Given the description of an element on the screen output the (x, y) to click on. 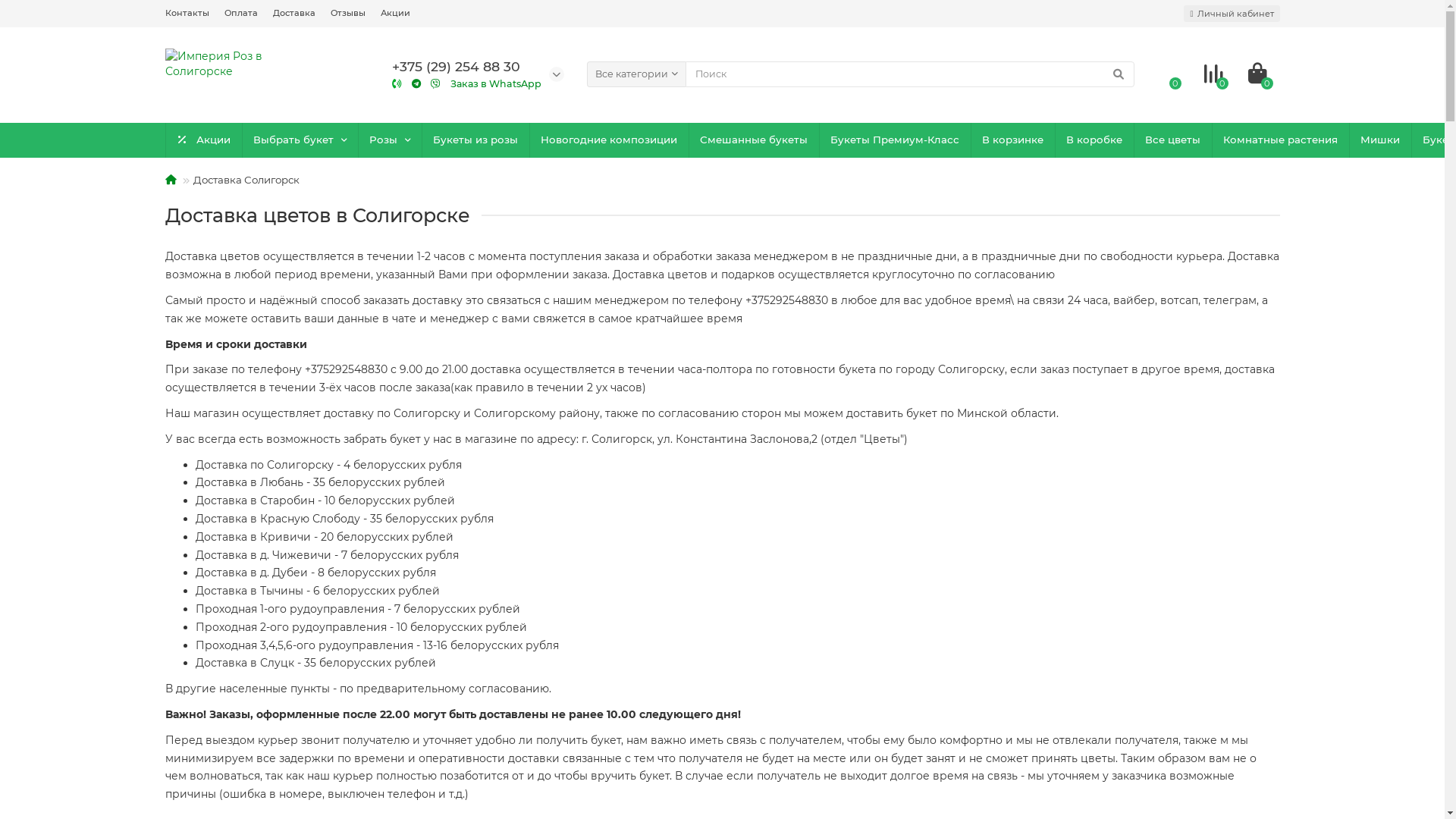
0 Element type: text (1257, 73)
